Given the description of an element on the screen output the (x, y) to click on. 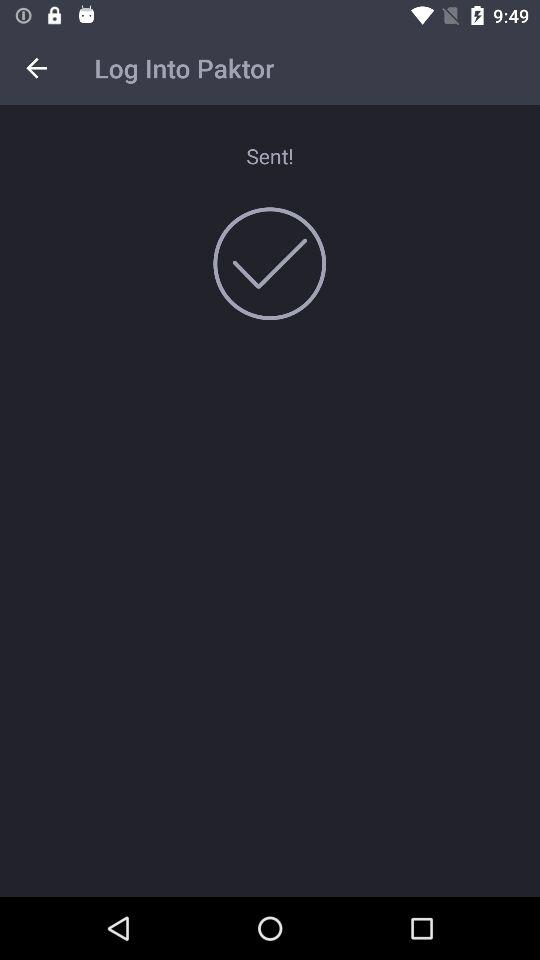
tap item to the left of log into paktor item (36, 68)
